Given the description of an element on the screen output the (x, y) to click on. 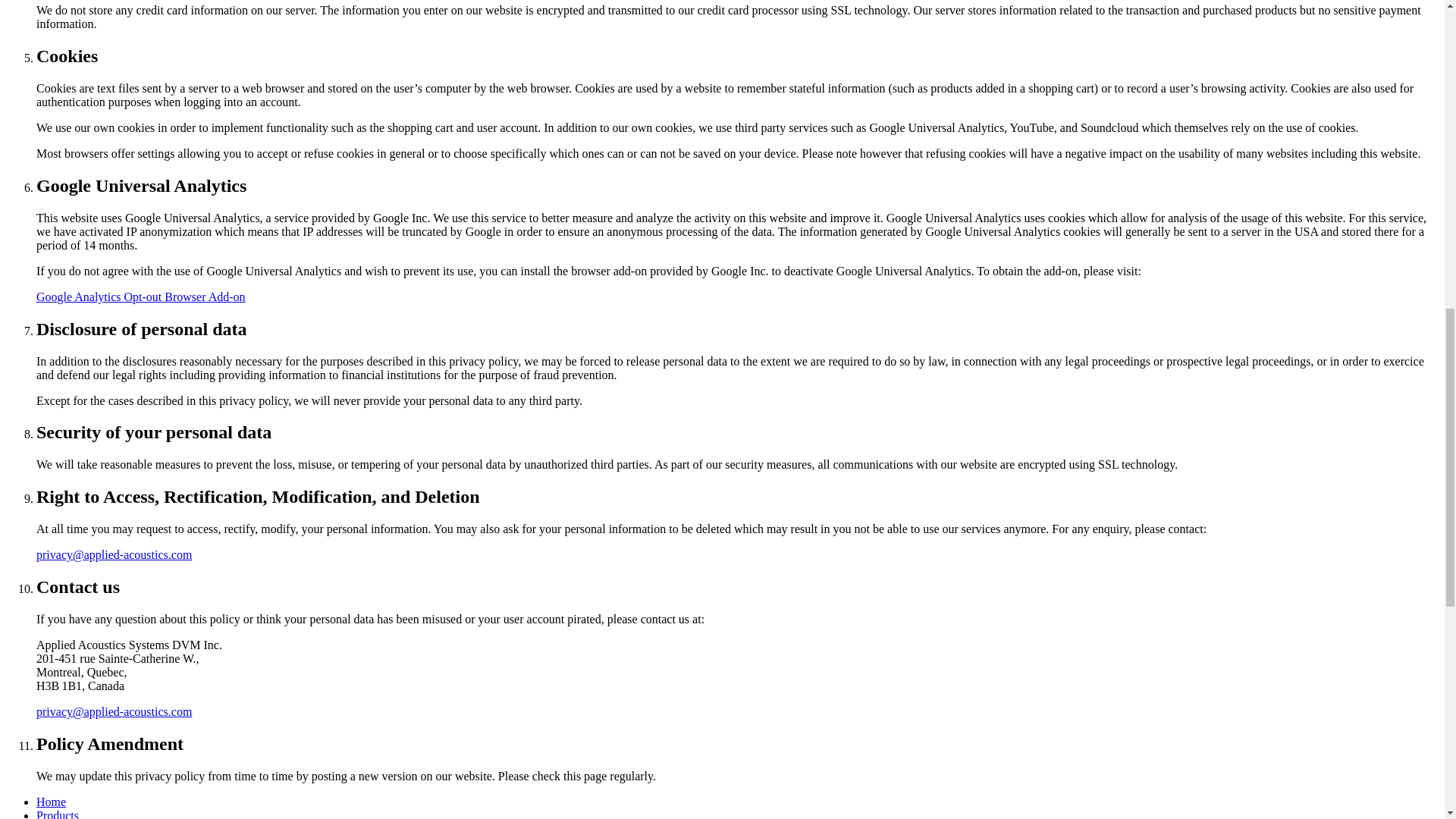
Products (57, 814)
Google Analytics Opt-out Browser Add-on (141, 296)
Google Analytics Opt-out Browser Add-on (141, 296)
Home (50, 801)
